Given the description of an element on the screen output the (x, y) to click on. 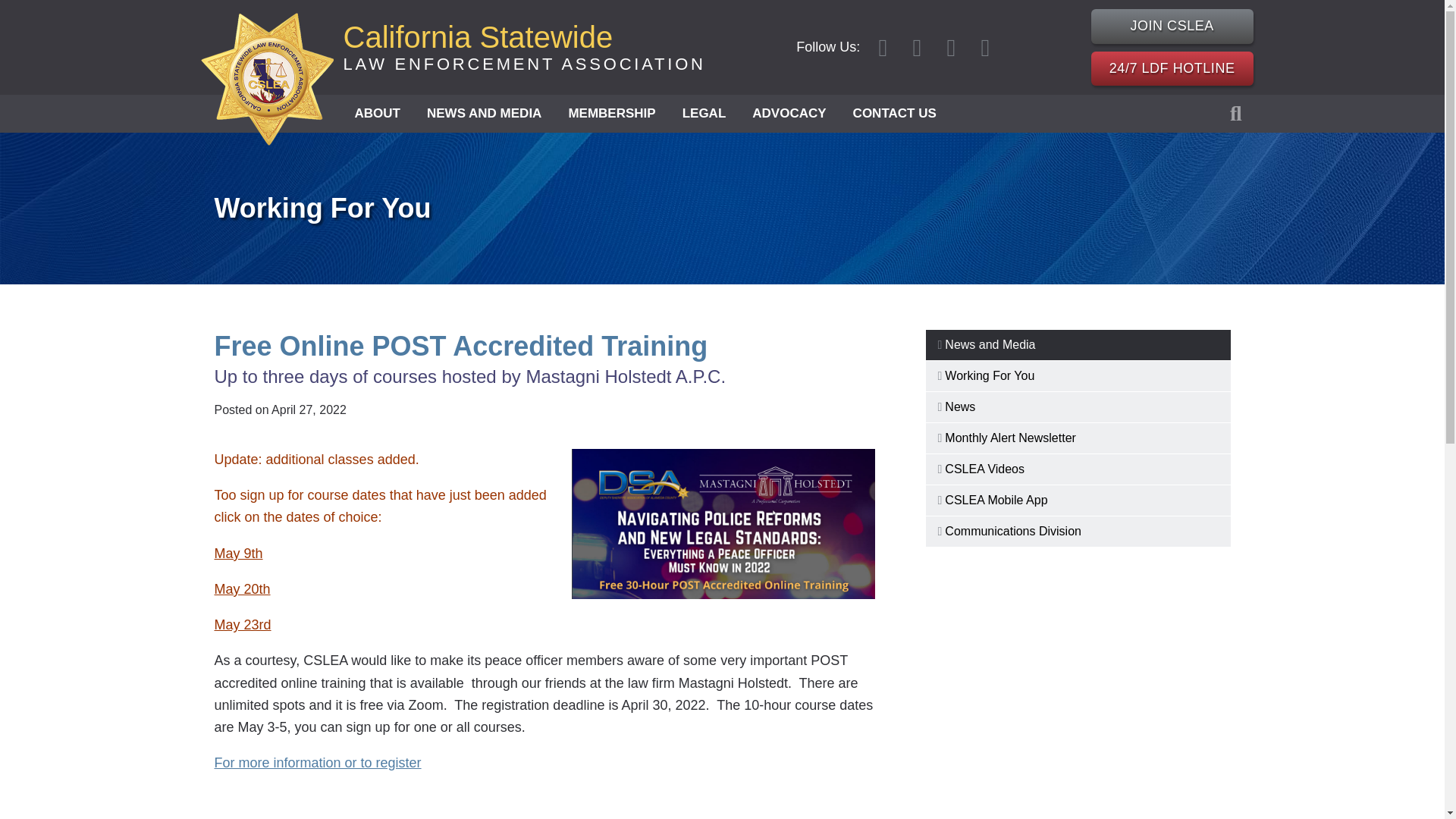
MEMBERSHIP (611, 113)
NEWS AND MEDIA (523, 47)
Skip to primary navigation (483, 113)
ABOUT (1171, 26)
